Given the description of an element on the screen output the (x, y) to click on. 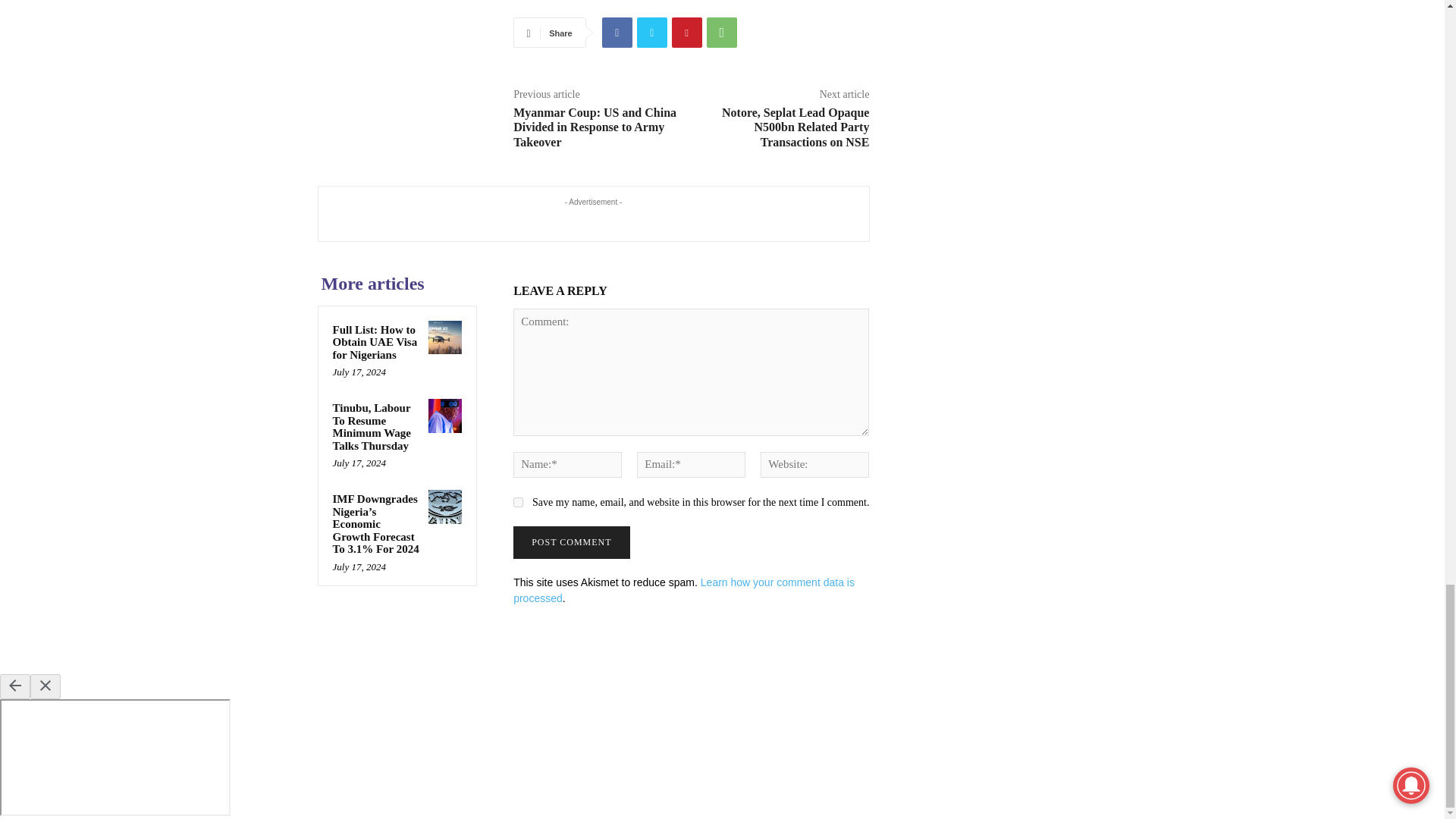
yes (517, 501)
Post Comment (570, 542)
